Given the description of an element on the screen output the (x, y) to click on. 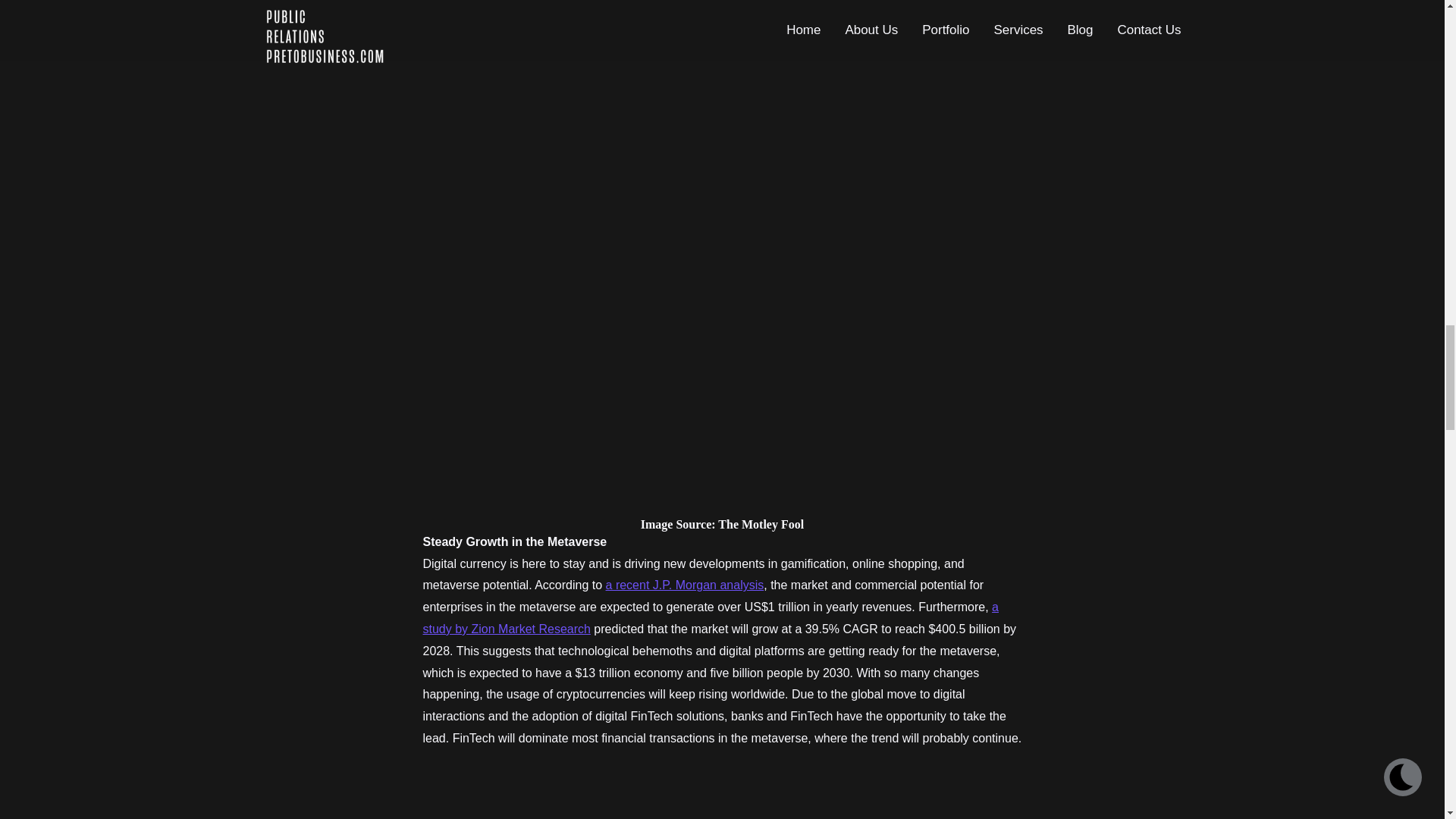
a study by Zion Market Research (710, 617)
a recent J.P. Morgan analysis (684, 584)
